Given the description of an element on the screen output the (x, y) to click on. 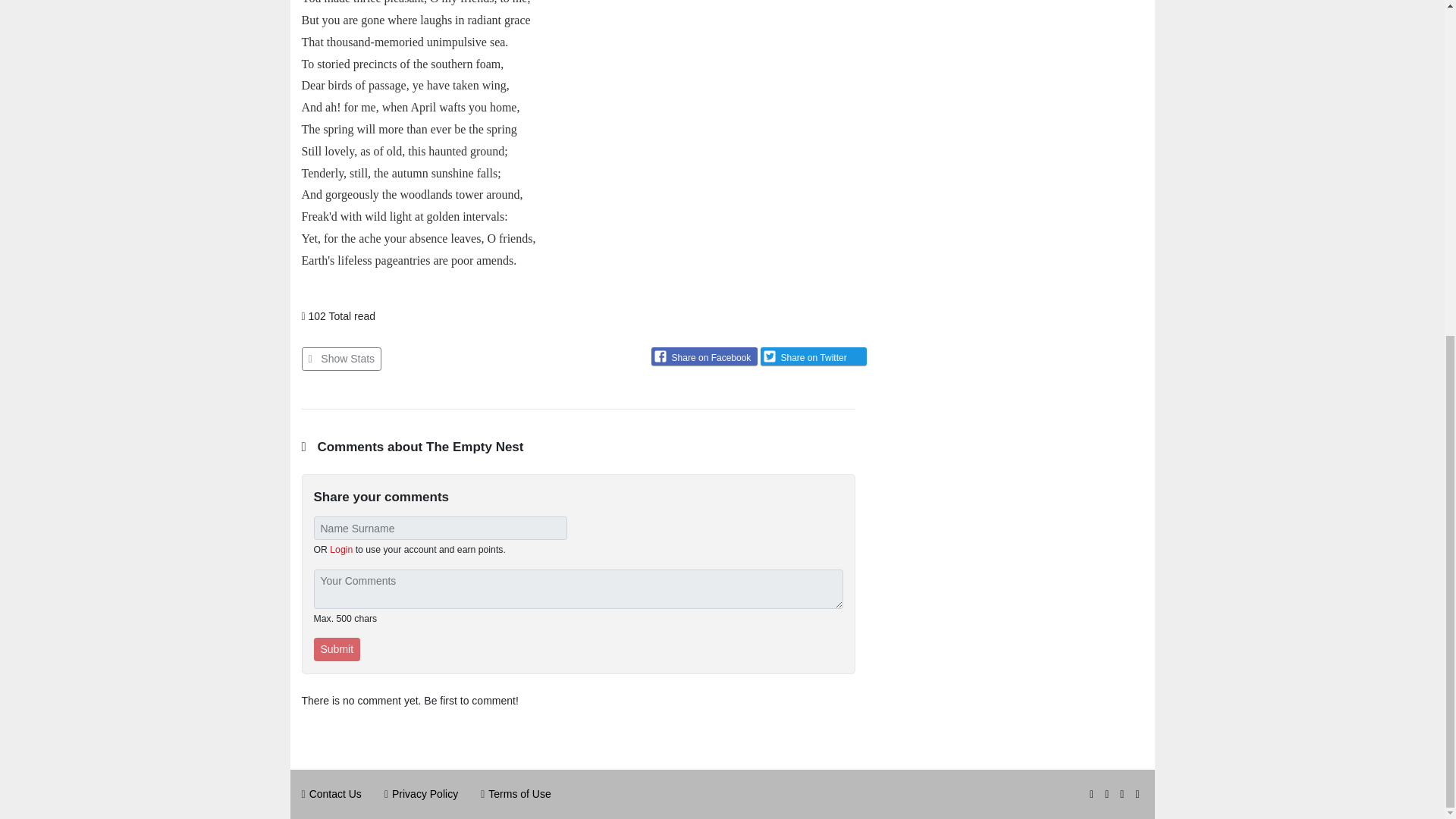
Terms of Use (518, 793)
Follow us on Pinterest (1138, 793)
Share on Facebook (703, 356)
Submit (337, 649)
Share on Twitter (813, 356)
Contact Us (334, 793)
Follow us on Facebook (1122, 793)
Follow us on Twitter (1108, 793)
Privacy Policy (424, 793)
Terms of Use (518, 793)
Login (341, 549)
Contact Us (334, 793)
Privacy Policy (424, 793)
  Show Stats (341, 359)
Follow us on Instagram (1093, 793)
